Given the description of an element on the screen output the (x, y) to click on. 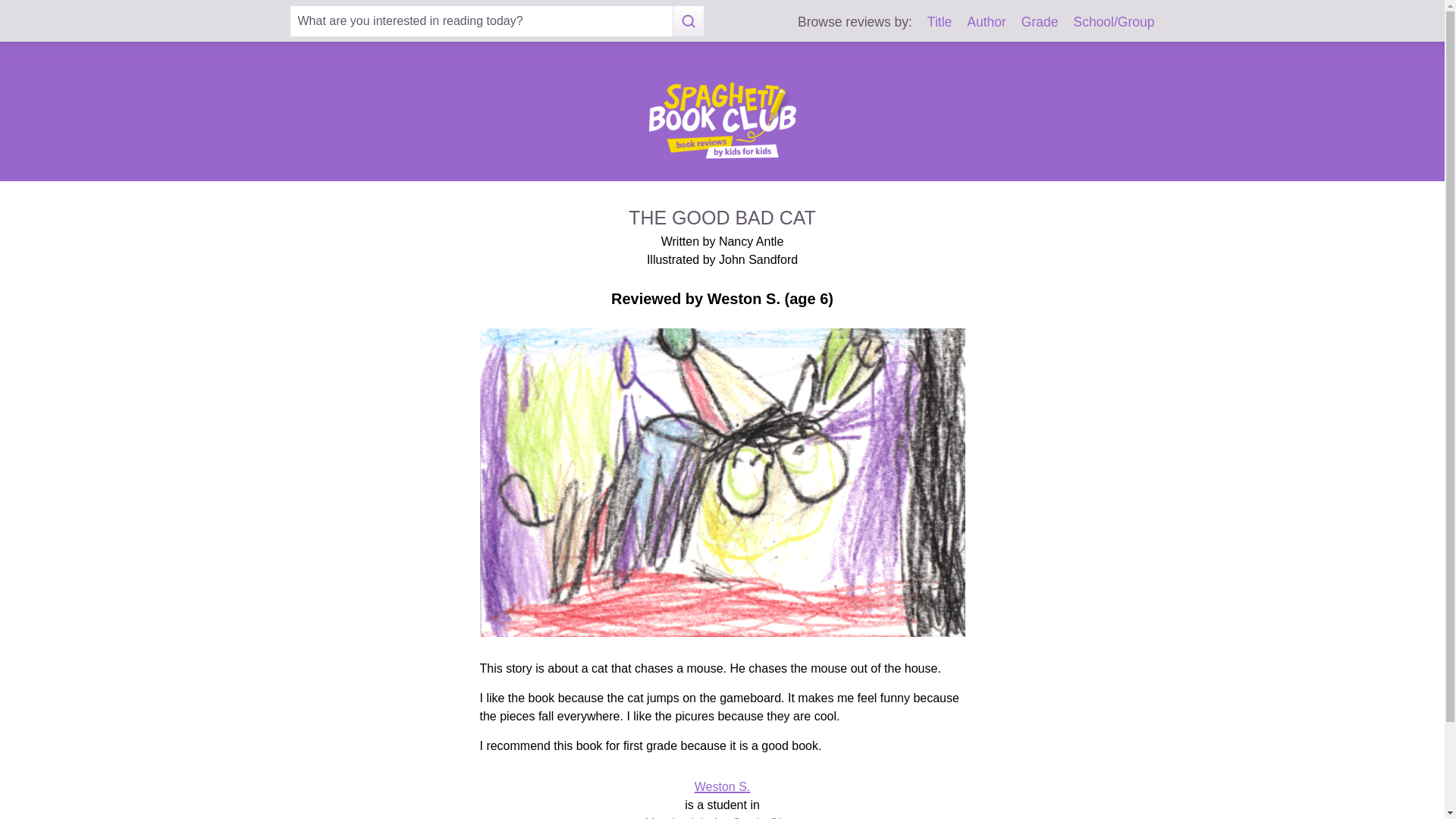
Mrs. Levin's 1st Grade Class (722, 817)
Author (986, 21)
Grade (1040, 21)
Title (939, 21)
Weston S. (722, 786)
